Given the description of an element on the screen output the (x, y) to click on. 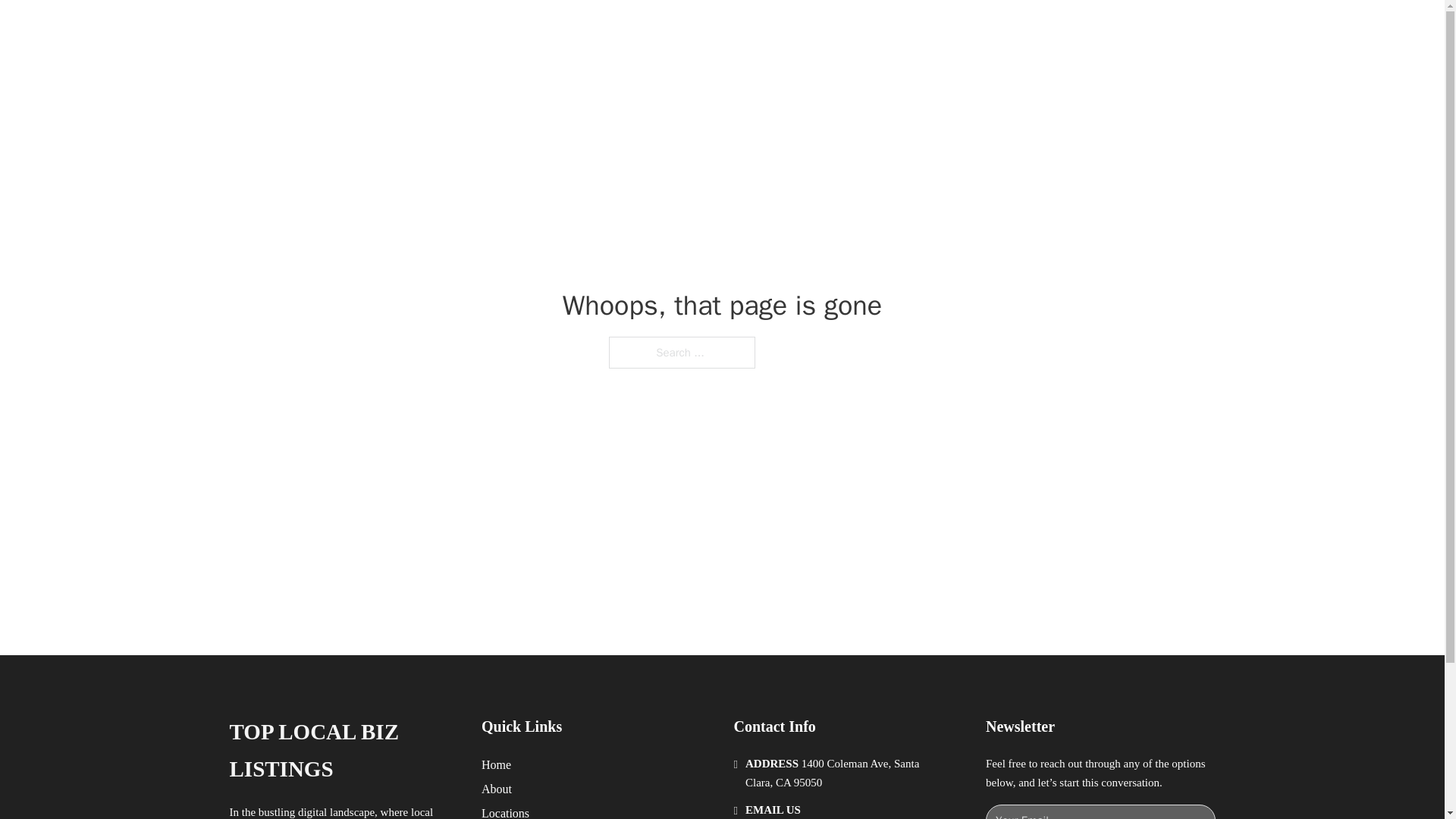
TOP LOCAL BIZ LISTINGS (343, 750)
HOME (919, 29)
Locations (505, 811)
LOCATIONS (990, 29)
TOP LOCAL BIZ LISTINGS (432, 28)
About (496, 788)
Home (496, 764)
